Given the description of an element on the screen output the (x, y) to click on. 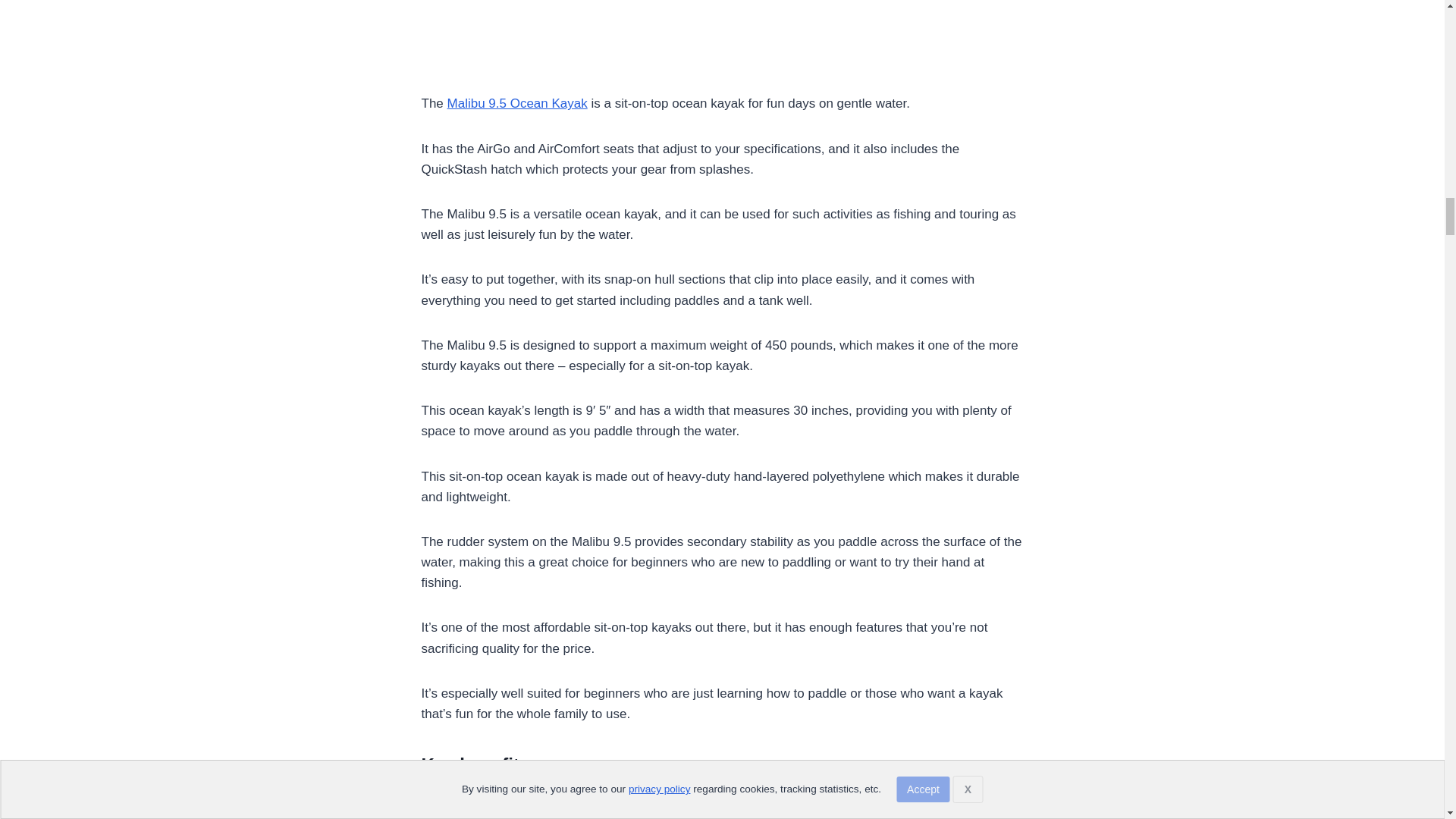
Malibu 9.5 Ocean Kayak (517, 103)
